Given the description of an element on the screen output the (x, y) to click on. 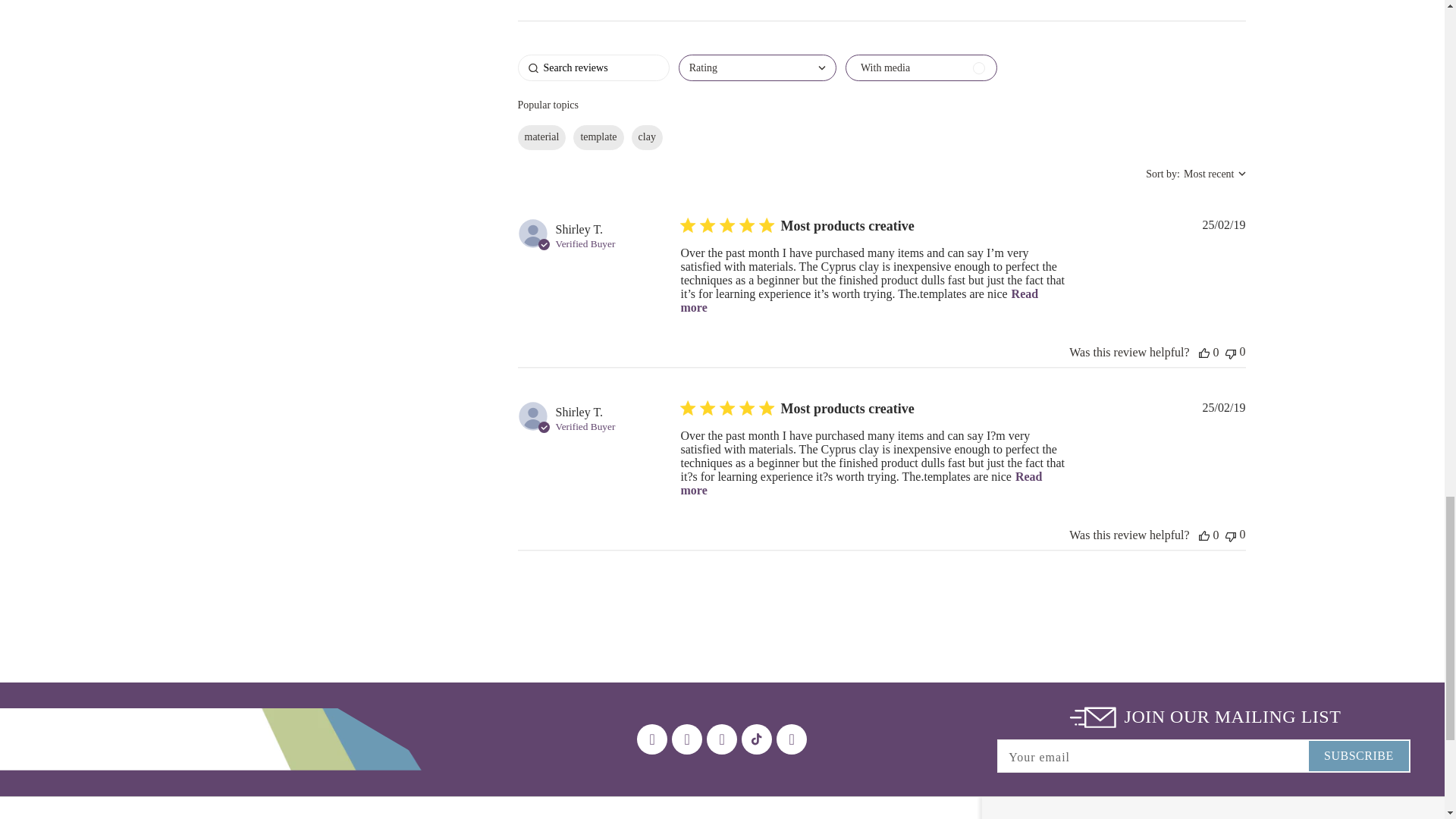
Shirley T. (578, 412)
Shirley T. (578, 229)
